Given the description of an element on the screen output the (x, y) to click on. 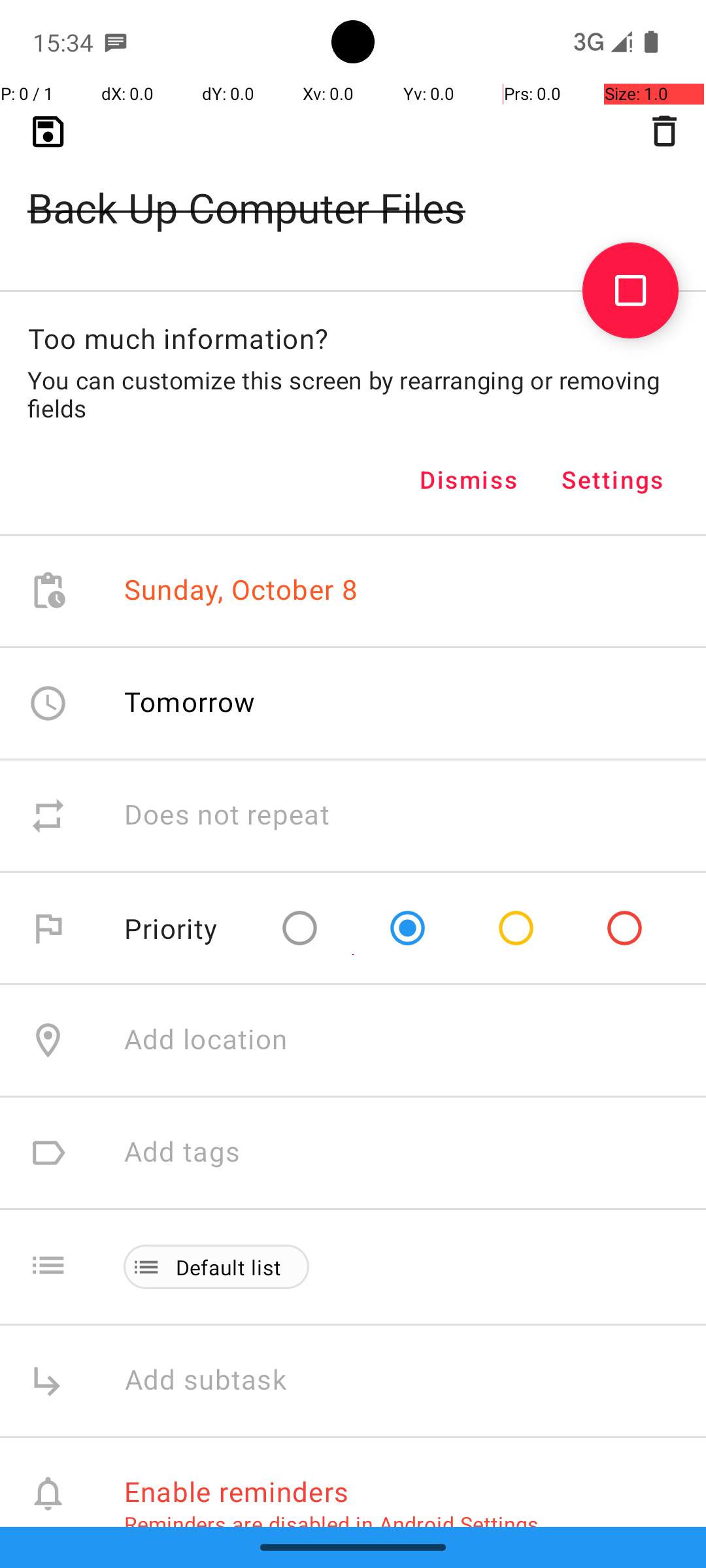
Back Up Computer Files Element type: android.widget.EditText (353, 186)
Sunday, October 8 Element type: android.widget.TextView (240, 590)
